Given the description of an element on the screen output the (x, y) to click on. 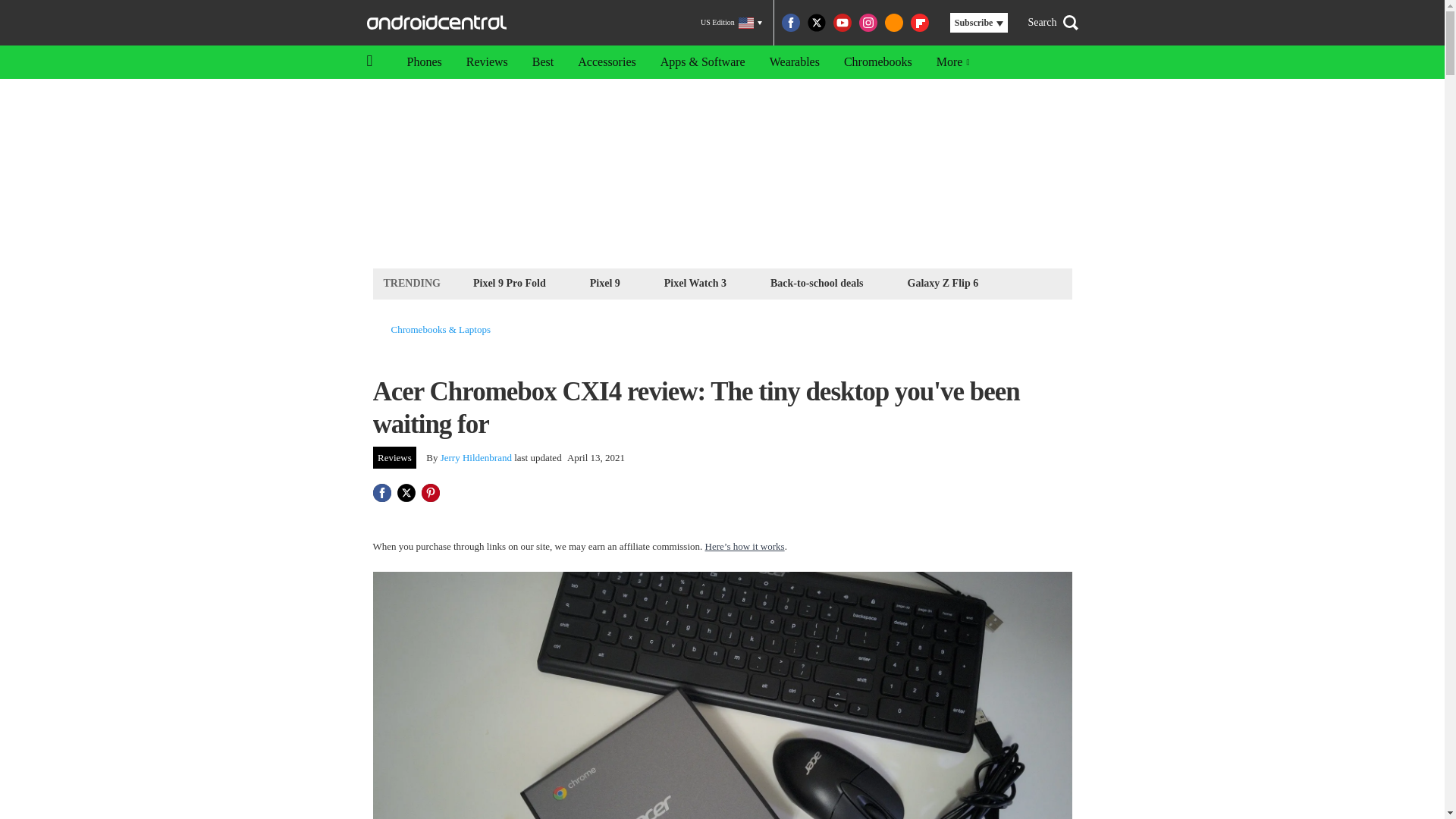
Pixel 9 (605, 282)
Pixel Watch 3 (695, 282)
Reviews (394, 457)
Galaxy Z Flip 6 (943, 282)
Accessories (606, 61)
Phones (423, 61)
Pixel 9 Pro Fold (509, 282)
Jerry Hildenbrand (476, 457)
US Edition (731, 22)
Reviews (486, 61)
